Given the description of an element on the screen output the (x, y) to click on. 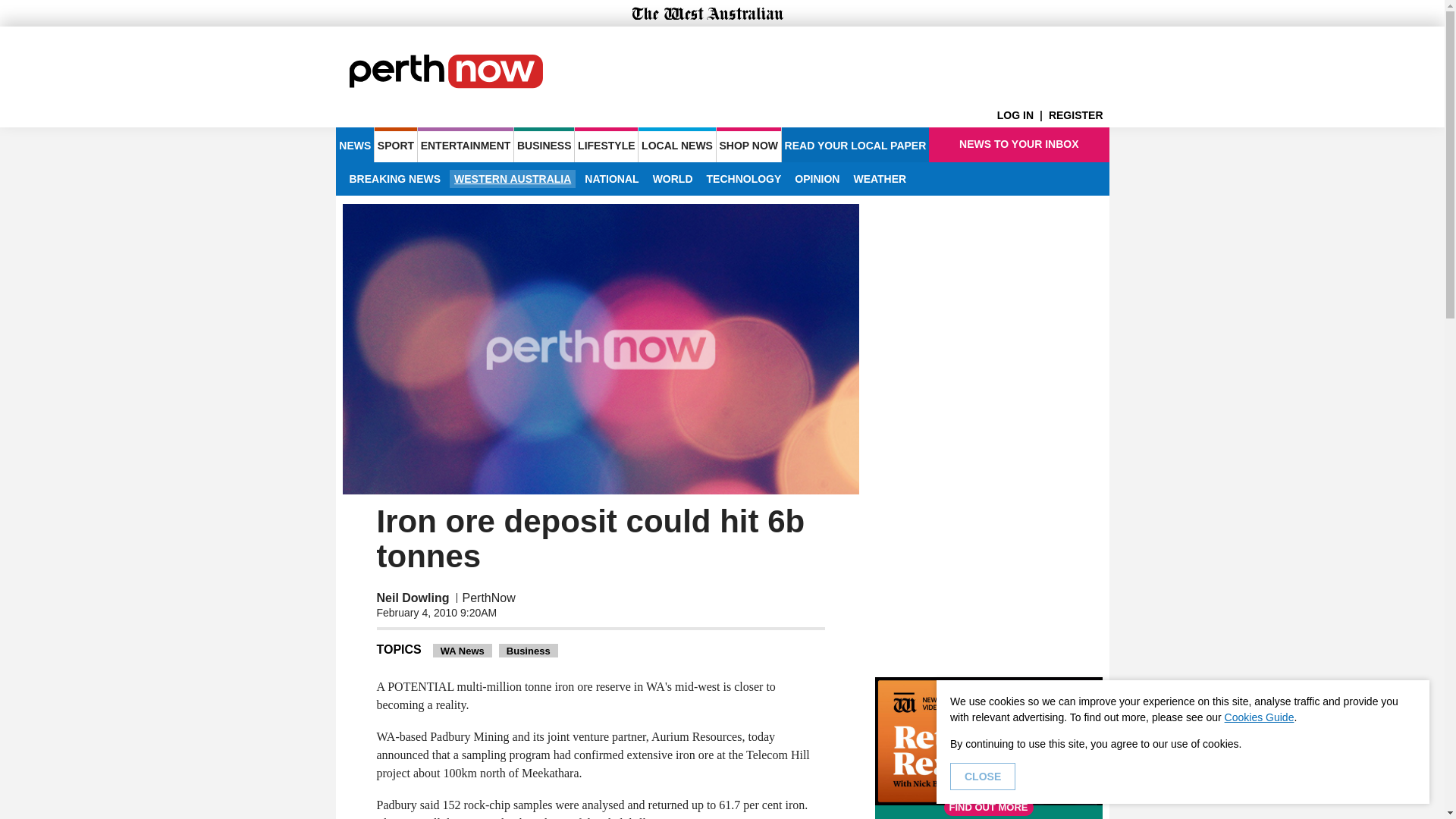
ENTERTAINMENT (465, 144)
REGISTER (1078, 115)
NEWS (354, 144)
SPORT (395, 144)
LOG IN (1022, 115)
